Given the description of an element on the screen output the (x, y) to click on. 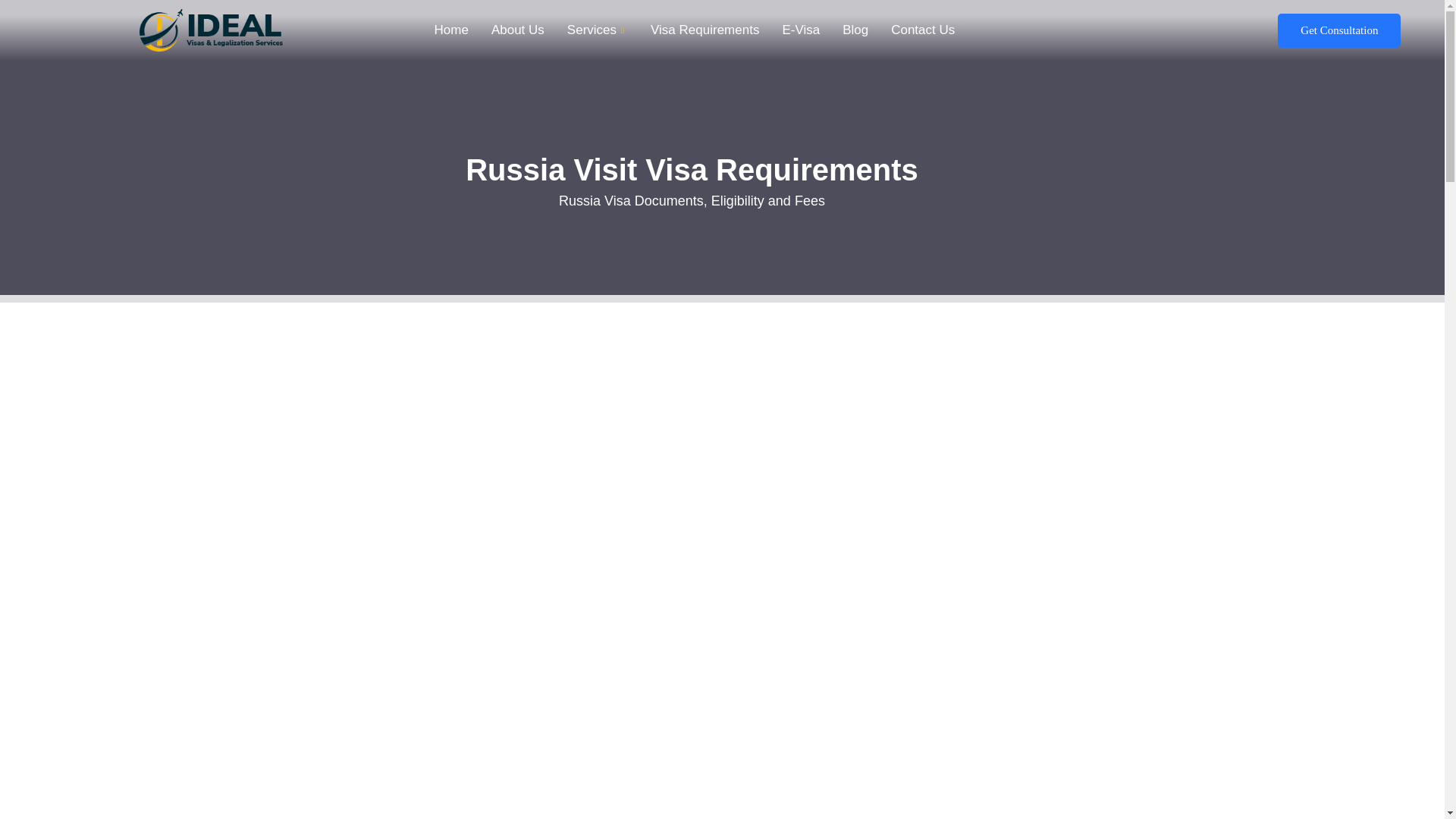
E-Visa (800, 30)
Contact Us (922, 30)
Visa Requirements (704, 30)
Get Consultation (1339, 30)
About Us (518, 30)
Home (451, 30)
Services (597, 30)
